Given the description of an element on the screen output the (x, y) to click on. 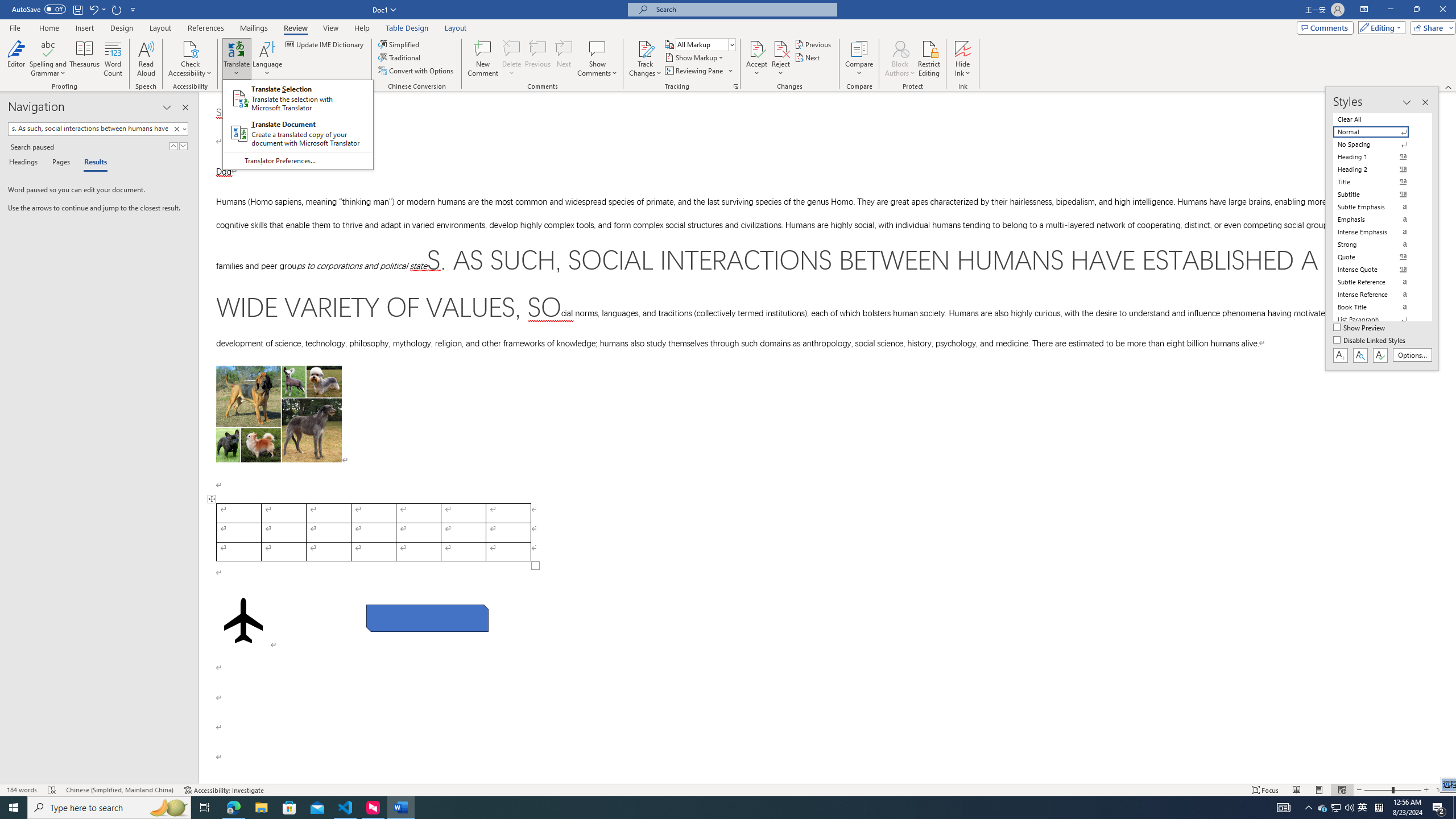
Previous Result (173, 145)
Emphasis (1377, 219)
Display for Review (1322, 807)
Compare (705, 44)
Subtitle (859, 58)
Delete (1377, 194)
Start (511, 58)
Accessibility Checker Accessibility: Investigate (13, 807)
Traditional (224, 790)
New Comment (400, 56)
